Given the description of an element on the screen output the (x, y) to click on. 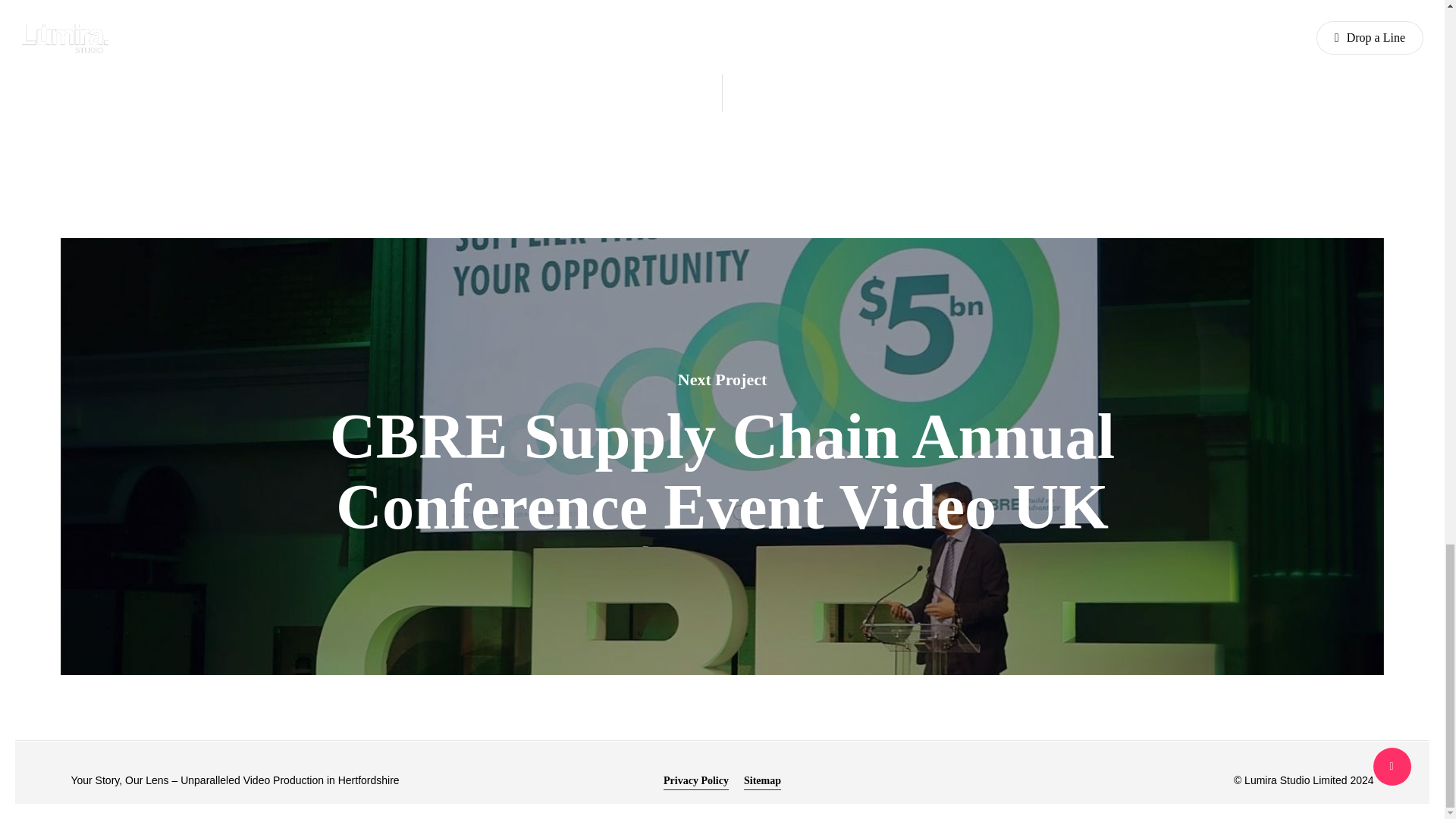
Sitemap (762, 781)
Contact us Today (146, 4)
Privacy Policy (696, 781)
